Given the description of an element on the screen output the (x, y) to click on. 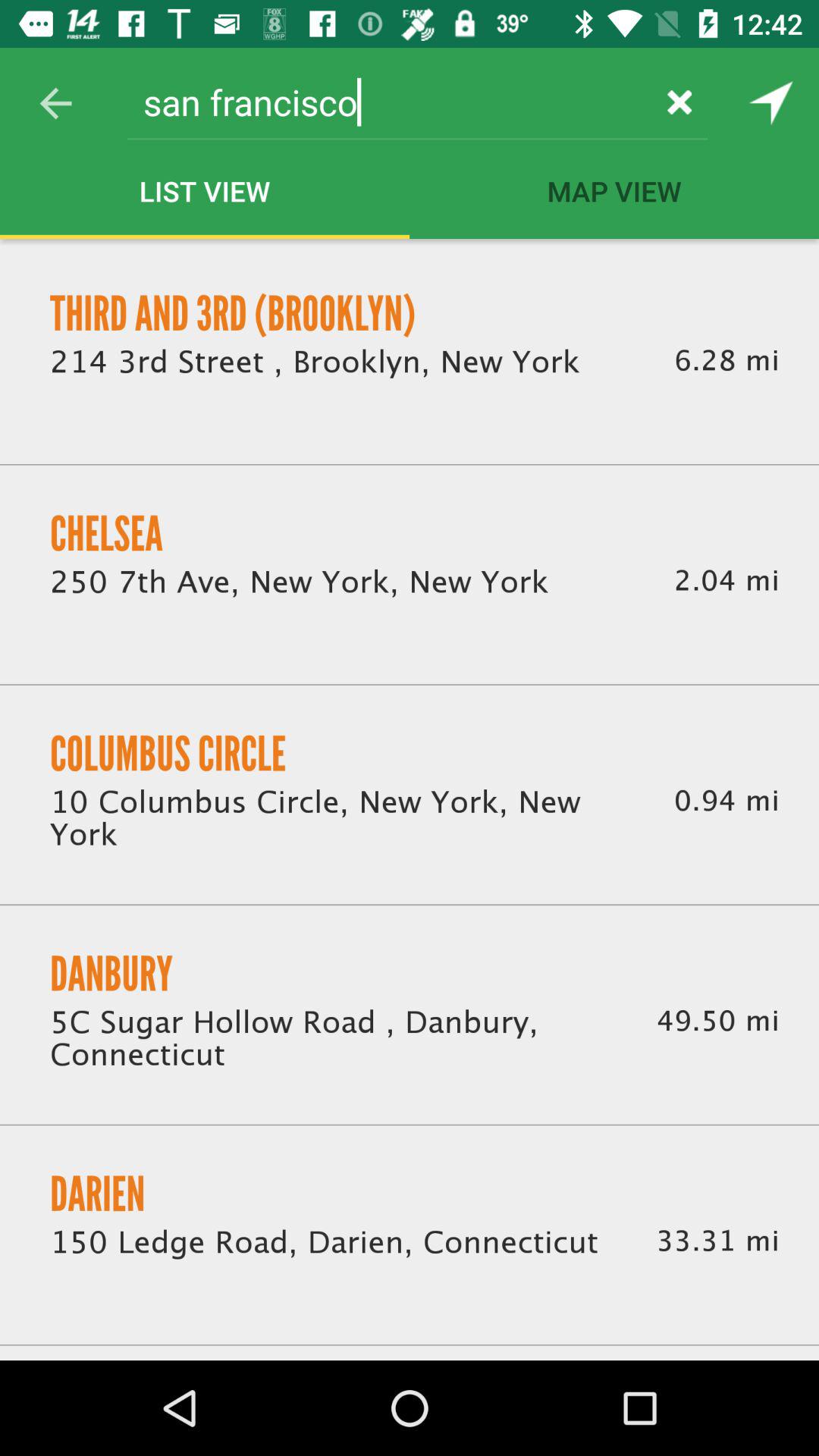
launch item above the 214 3rd street (232, 313)
